Given the description of an element on the screen output the (x, y) to click on. 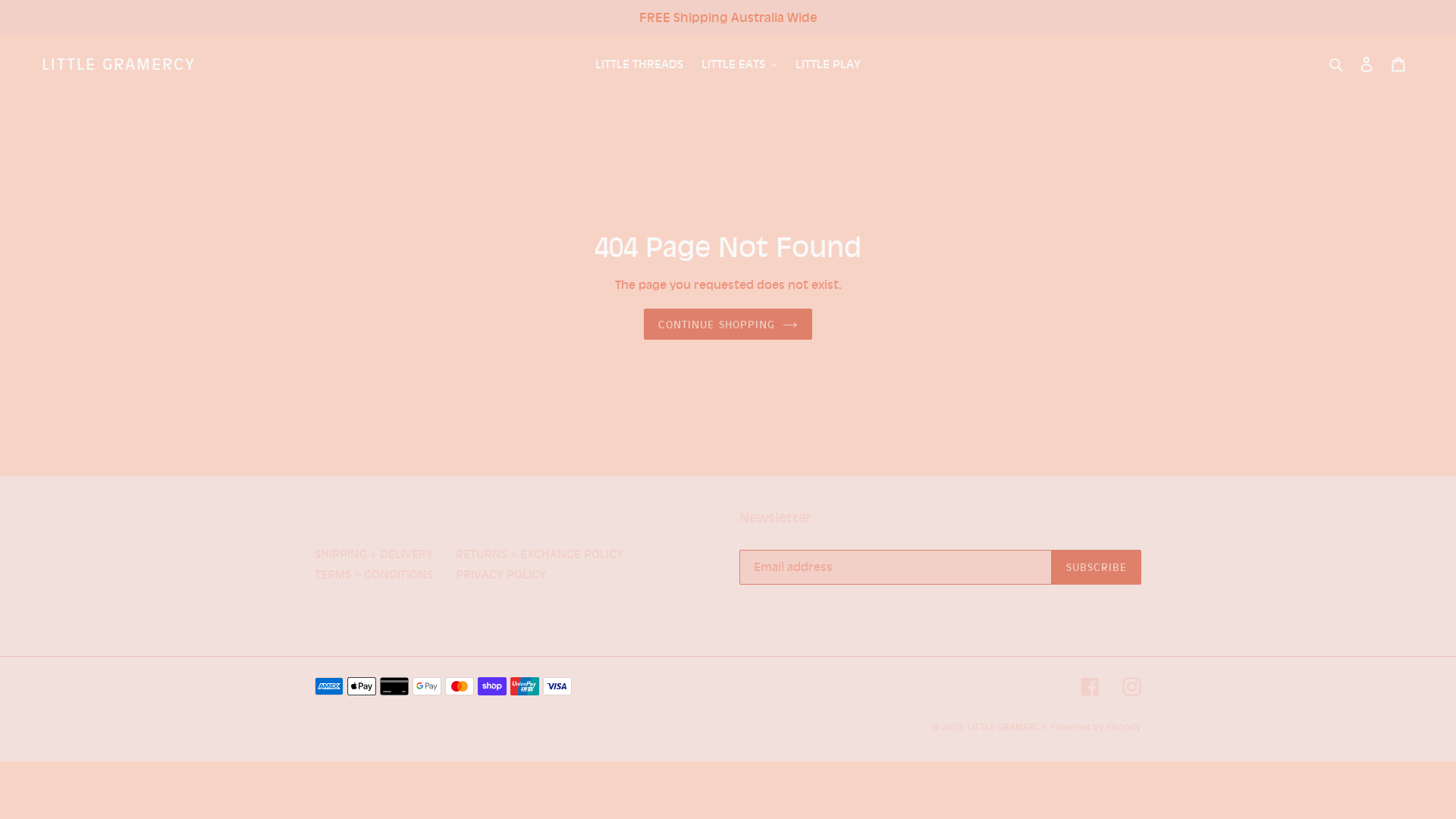
SUBSCRIBE Element type: text (1096, 566)
Log in Element type: text (1366, 64)
CONTINUE SHOPPING Element type: text (727, 324)
TERMS + CONDITIONS Element type: text (373, 574)
LITTLE PLAY Element type: text (827, 64)
LITTLE GRAMERCY Element type: text (118, 64)
Powered by Shopify Element type: text (1095, 726)
Cart Element type: text (1398, 64)
PRIVACY POLICY Element type: text (500, 574)
Instagram Element type: text (1131, 686)
LITTLE EATS Element type: text (738, 64)
RETURNS + EXCHANGE POLICY Element type: text (539, 553)
LITTLE GRAMERCY Element type: text (1006, 726)
Facebook Element type: text (1089, 686)
LITTLE THREADS Element type: text (638, 64)
Search Element type: text (1337, 64)
SHIPPING + DELIVERY Element type: text (373, 553)
